Given the description of an element on the screen output the (x, y) to click on. 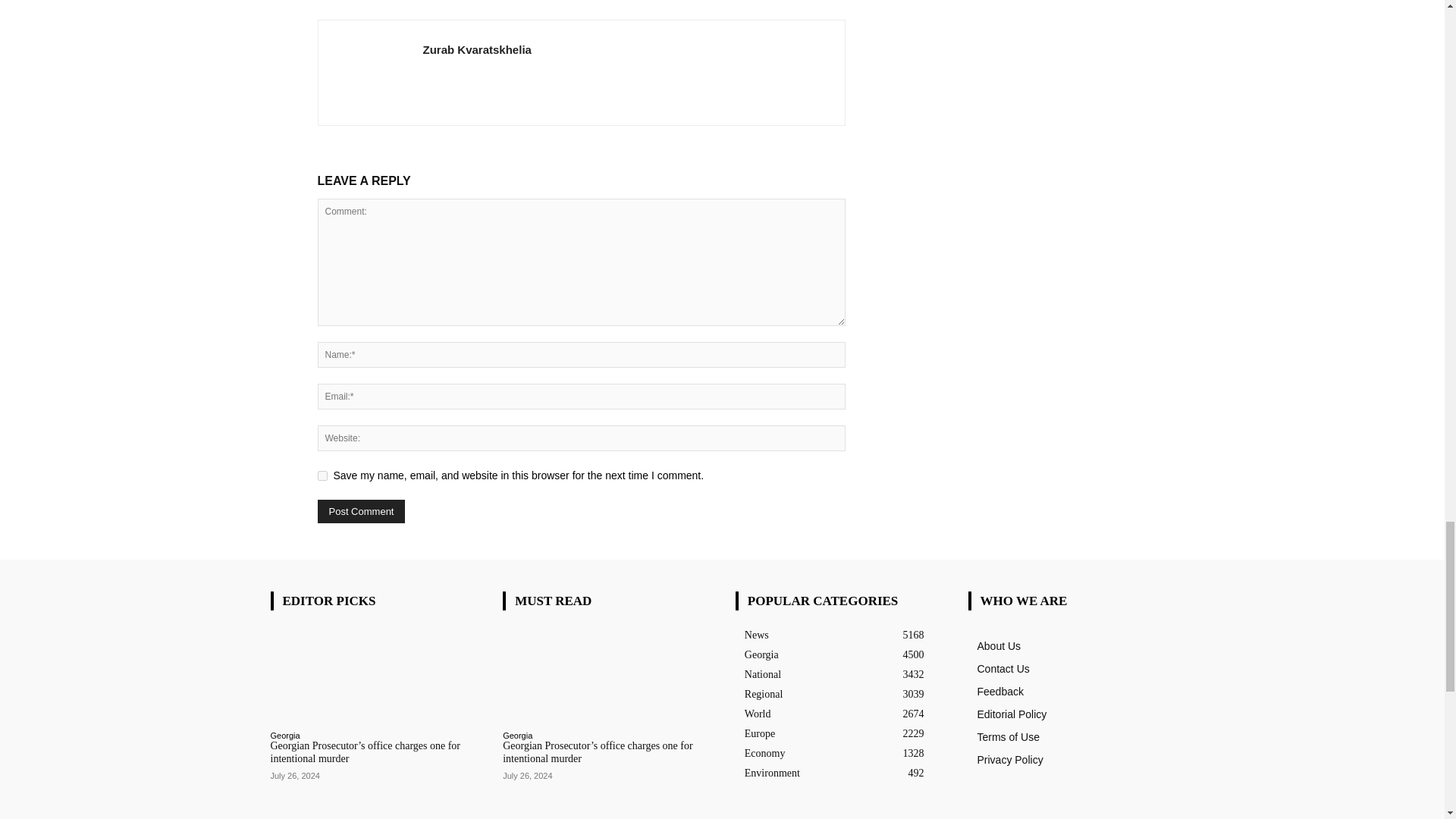
yes (321, 475)
Post Comment (360, 511)
